Given the description of an element on the screen output the (x, y) to click on. 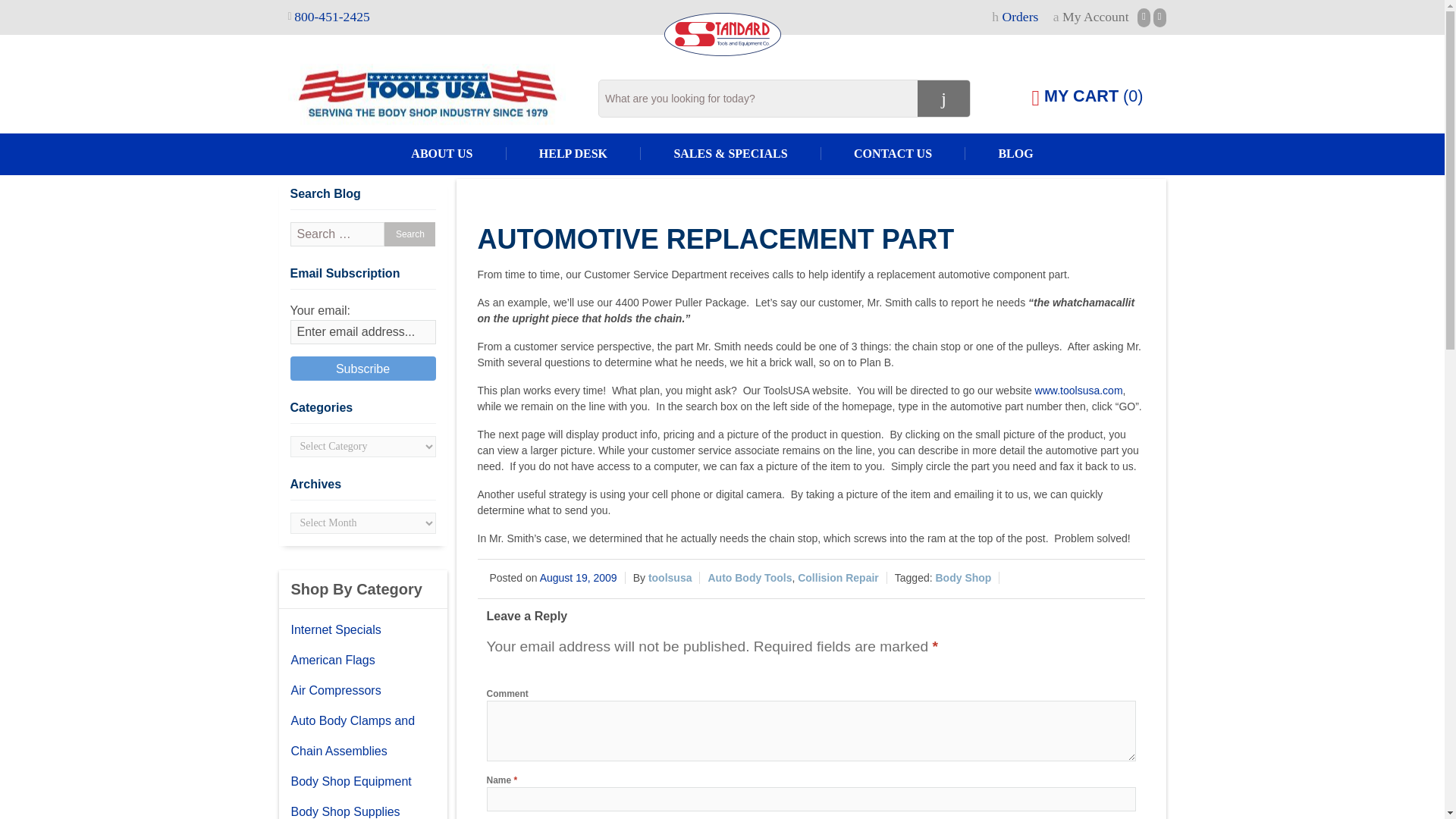
BODY SHOP EQUIPMENT (10, 204)
Welcome to Tools USA (427, 95)
FRAME STRAIGHTENING EQUIPMENT (46, 408)
HELP DESK (574, 153)
POWDER COATING EQUIPMENT (29, 531)
Body Shop Equipment (362, 781)
Body Shop (963, 577)
AUTO BODY CLAMPS AND CHAIN ASSEMBLIES (72, 163)
FRAME MEASURING AND WHEEL ALIGNMENT SYSTEMS (100, 367)
Body Shop Supplies (362, 807)
Auto Body Tools (749, 577)
ABOUT US (441, 153)
American Flags (362, 660)
Search (409, 233)
Tools USA (434, 95)
